Given the description of an element on the screen output the (x, y) to click on. 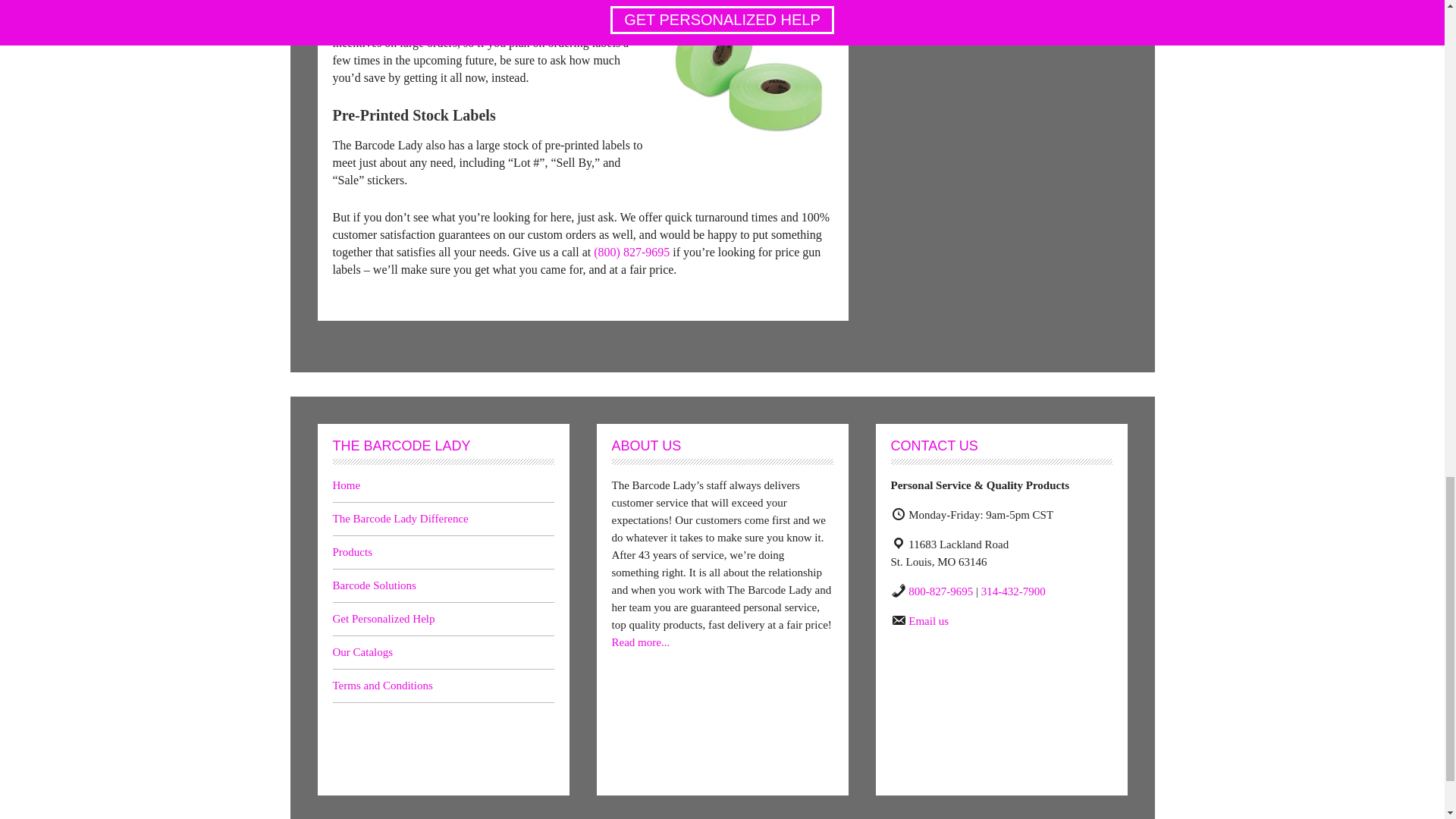
The Barcode Lady Difference (399, 518)
Products (351, 551)
Barcode Solutions (372, 585)
Get Personalized Help (382, 618)
Home (345, 485)
